Given the description of an element on the screen output the (x, y) to click on. 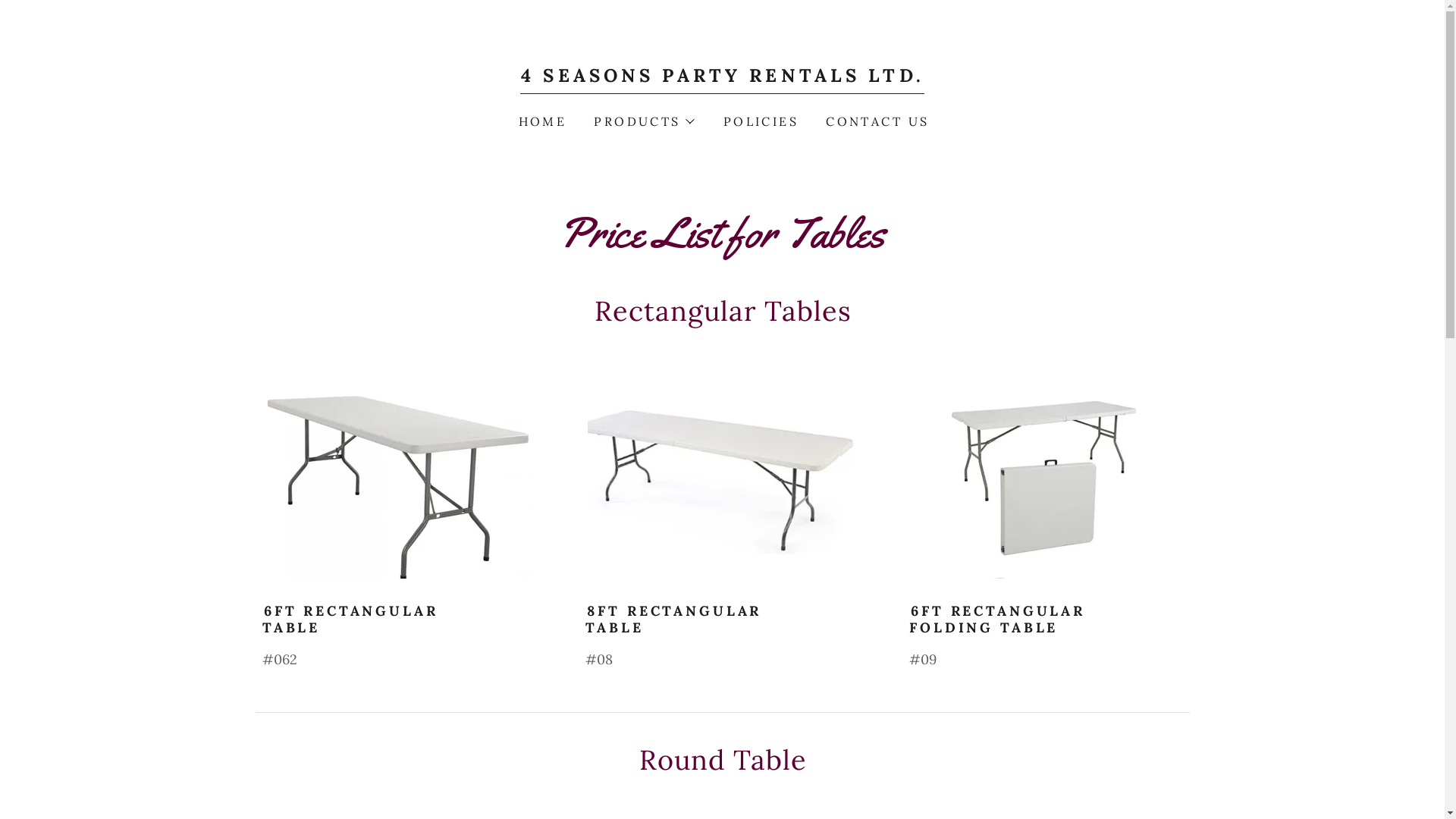
CONTACT US Element type: text (875, 120)
POLICIES Element type: text (759, 120)
PRODUCTS Element type: text (642, 121)
HOME Element type: text (541, 120)
4 SEASONS PARTY RENTALS LTD. Element type: text (722, 76)
